Given the description of an element on the screen output the (x, y) to click on. 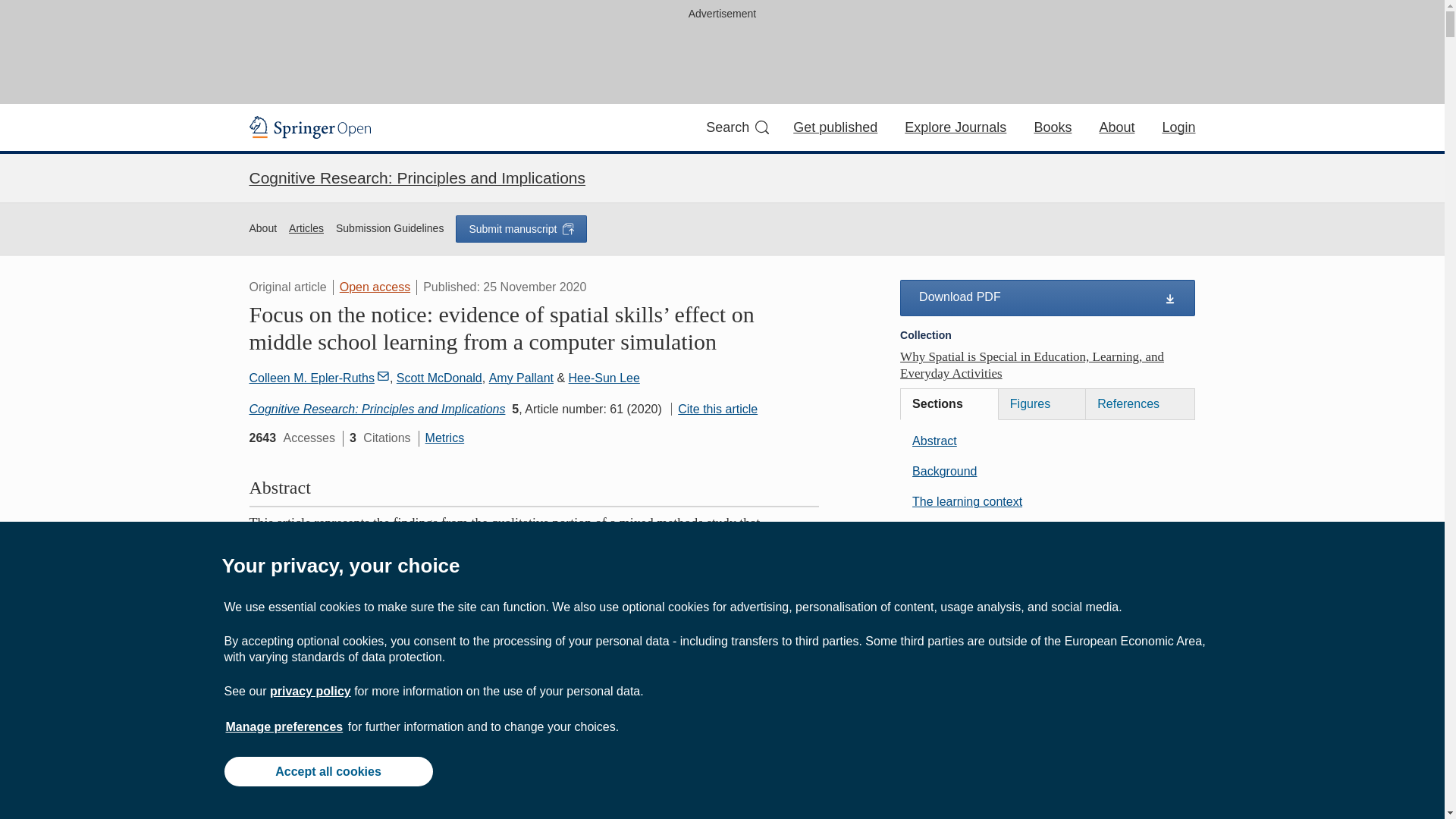
Submit manuscript (520, 228)
About (262, 228)
Articles (305, 228)
About (1116, 127)
Cognitive Research: Principles and Implications (376, 408)
Colleen M. Epler-Ruths (318, 377)
Submission Guidelines (390, 228)
Explore Journals (955, 127)
3rd party ad content (721, 59)
Cognitive Research: Principles and Implications (416, 177)
